Given the description of an element on the screen output the (x, y) to click on. 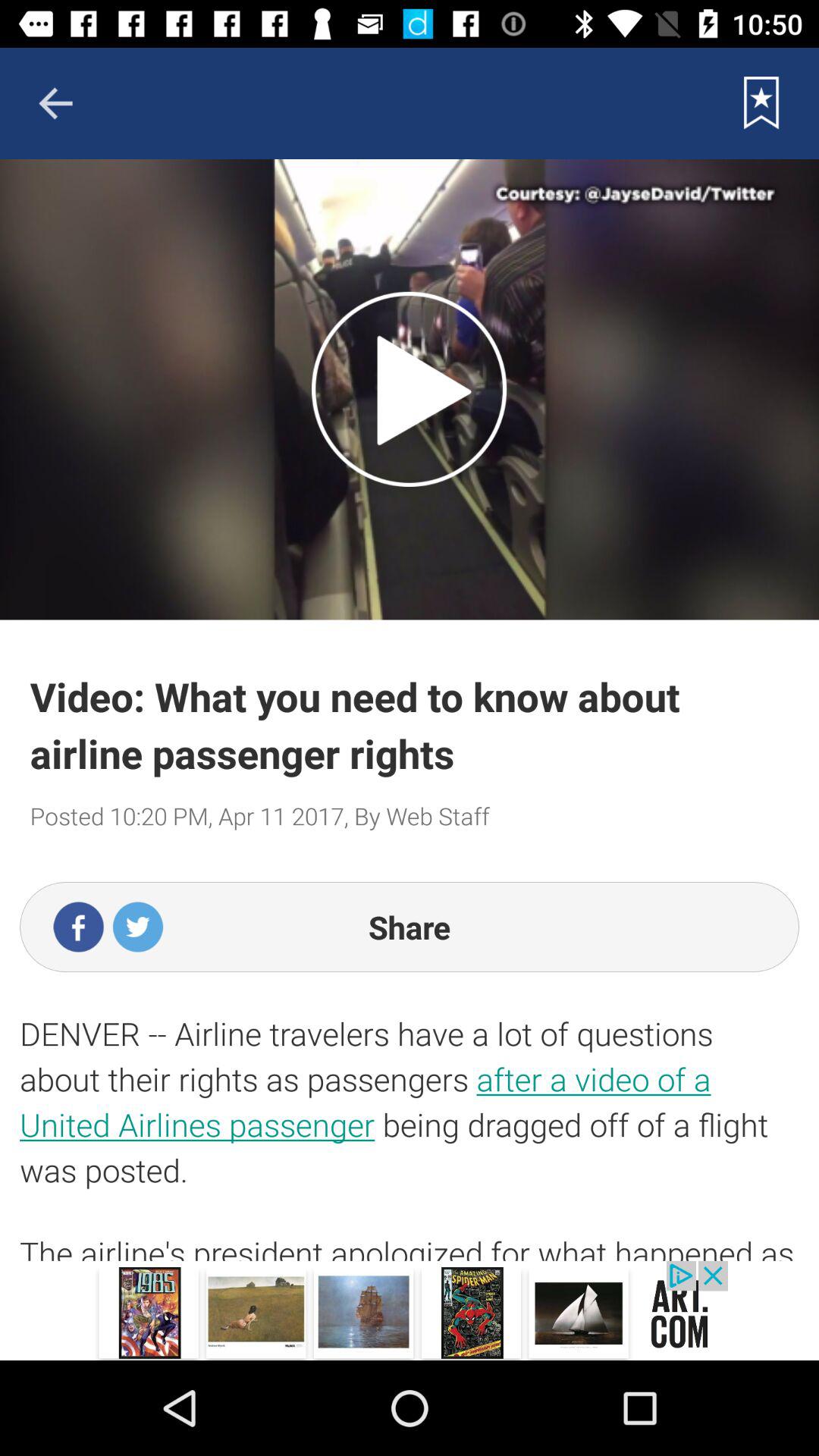
advertisement (409, 1310)
